Given the description of an element on the screen output the (x, y) to click on. 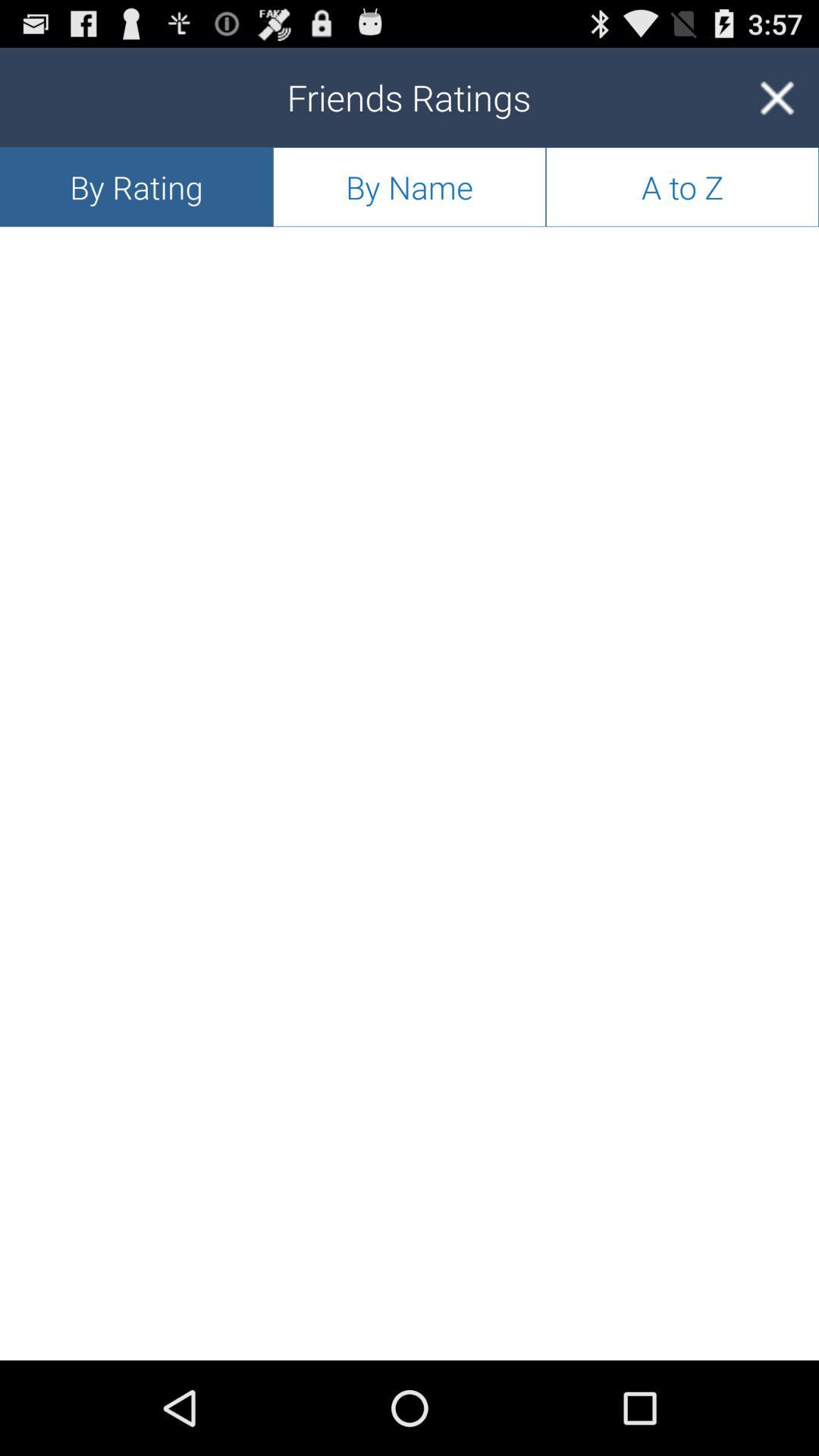
press the a to z icon (682, 186)
